Given the description of an element on the screen output the (x, y) to click on. 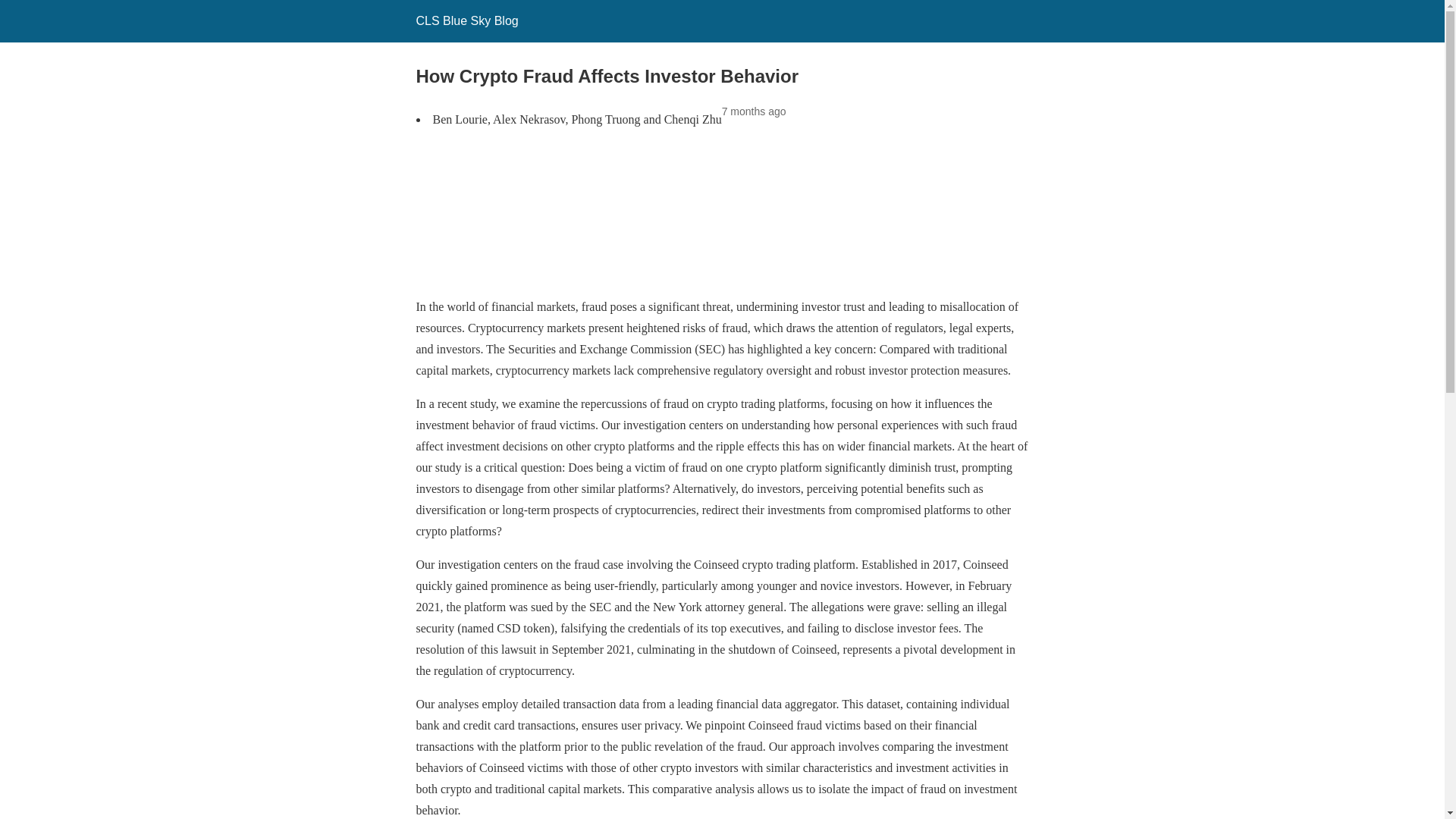
CLS Blue Sky Blog (466, 20)
